Given the description of an element on the screen output the (x, y) to click on. 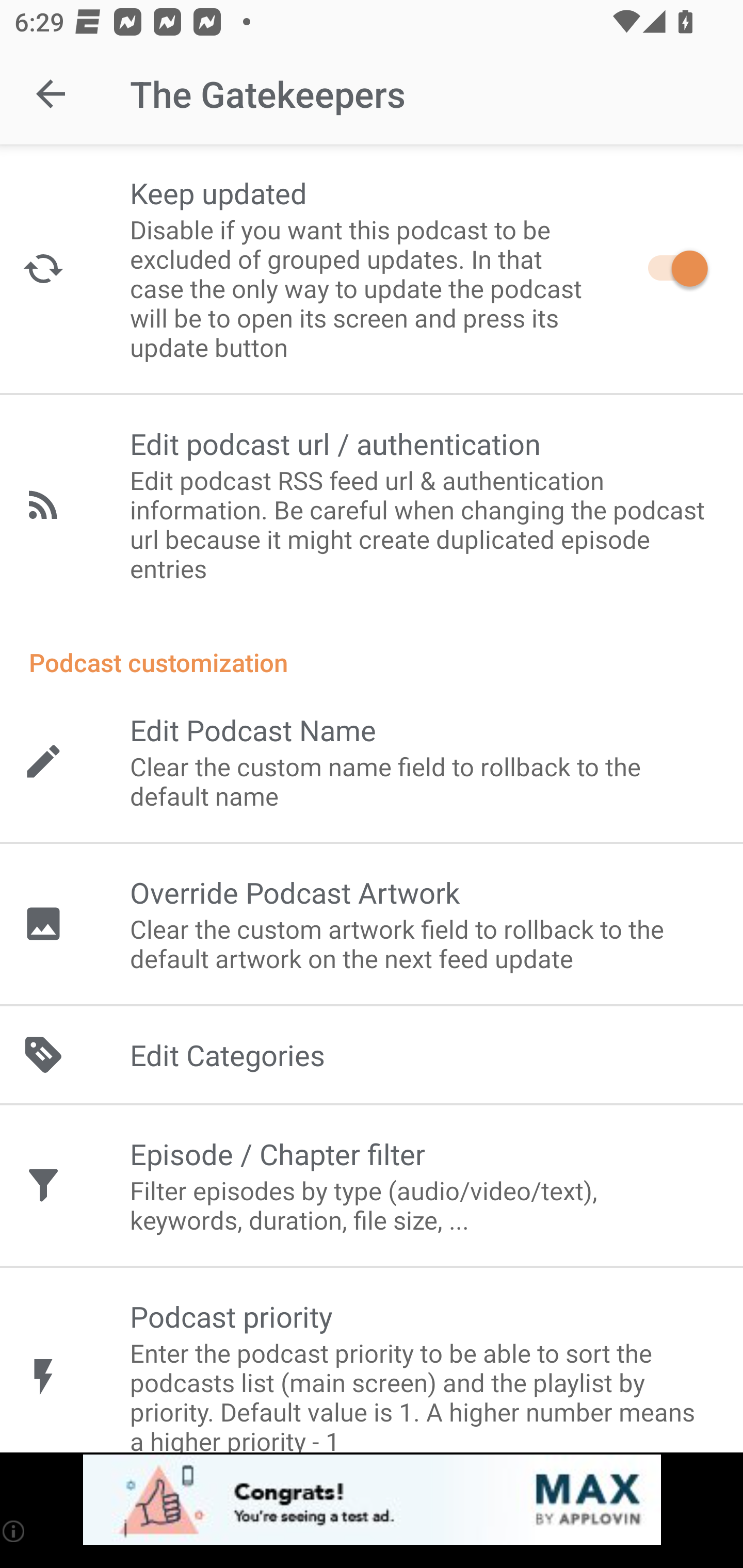
Navigate up (50, 93)
Edit Categories (371, 1054)
app-monetization (371, 1500)
(i) (14, 1531)
